Given the description of an element on the screen output the (x, y) to click on. 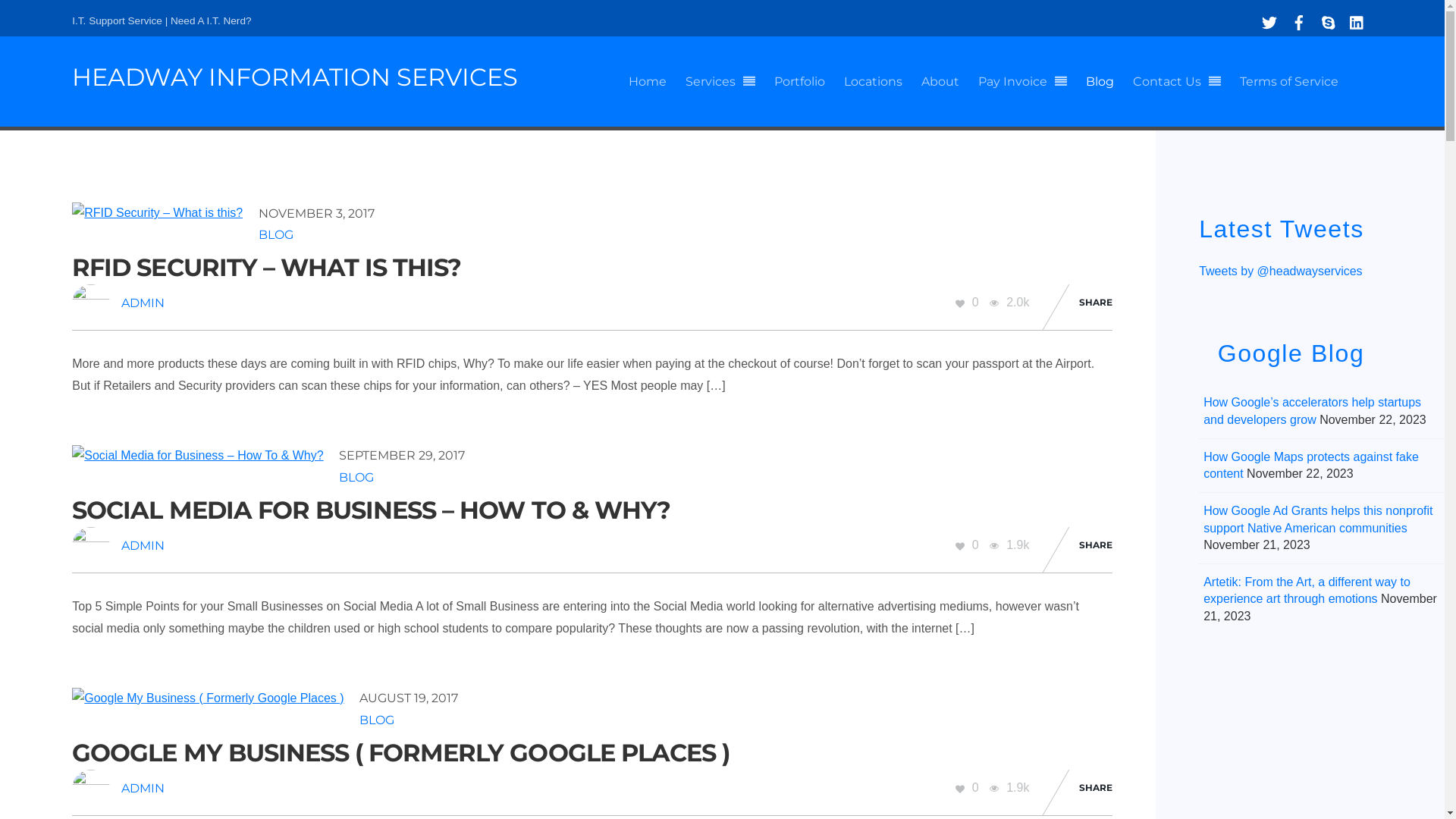
About Element type: text (939, 81)
0 Element type: text (968, 787)
0 Element type: text (968, 544)
Home Element type: text (647, 81)
ADMIN Element type: text (142, 302)
How Google Maps protects against fake content Element type: text (1310, 465)
Blog Element type: text (1099, 81)
BLOG Element type: text (275, 234)
Tweets by @headwayservices Element type: text (1279, 270)
SHARE Element type: text (1095, 545)
SHARE Element type: text (1095, 788)
Terms of Service Element type: text (1289, 81)
HEADWAY INFORMATION SERVICES Element type: text (310, 76)
SHARE Element type: text (1095, 302)
GOOGLE MY BUSINESS ( FORMERLY GOOGLE PLACES ) Element type: text (400, 752)
Portfolio Element type: text (799, 81)
ADMIN Element type: text (142, 788)
Pay Invoice Element type: text (1022, 81)
Services Element type: text (719, 81)
0 Element type: text (968, 301)
Locations Element type: text (873, 81)
Google Blog Element type: text (1291, 353)
BLOG Element type: text (355, 477)
ADMIN Element type: text (142, 545)
Google My Business ( Formerly Google Places ) Element type: hover (207, 698)
BLOG Element type: text (376, 719)
Contact Us Element type: text (1176, 81)
